Given the description of an element on the screen output the (x, y) to click on. 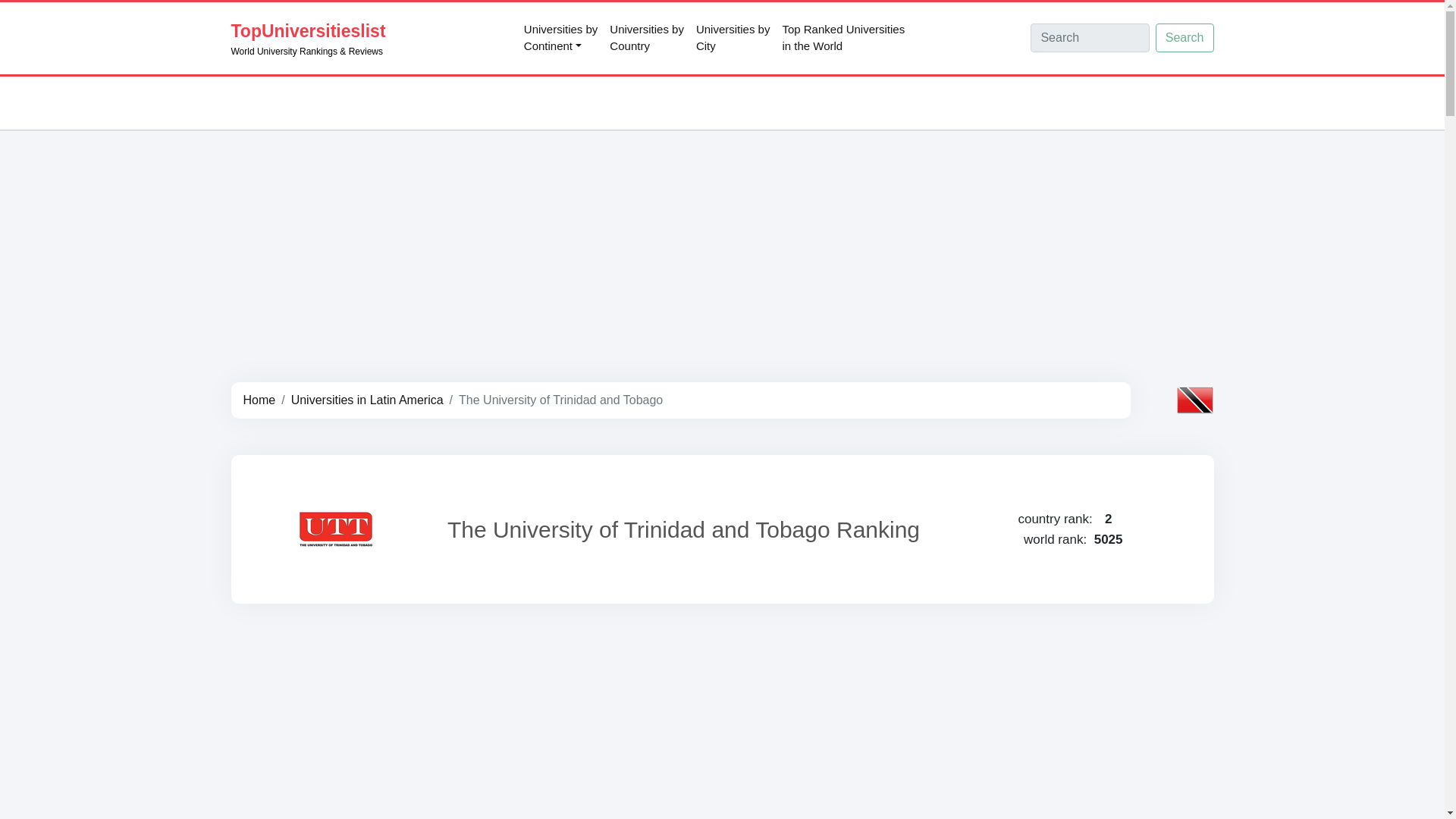
Universities in Latin America (367, 399)
Top Ranked Universities in the World (561, 38)
Home (843, 38)
Universities by Country (733, 38)
Universities in Latin America (259, 399)
Universities by Continent (647, 38)
